Given the description of an element on the screen output the (x, y) to click on. 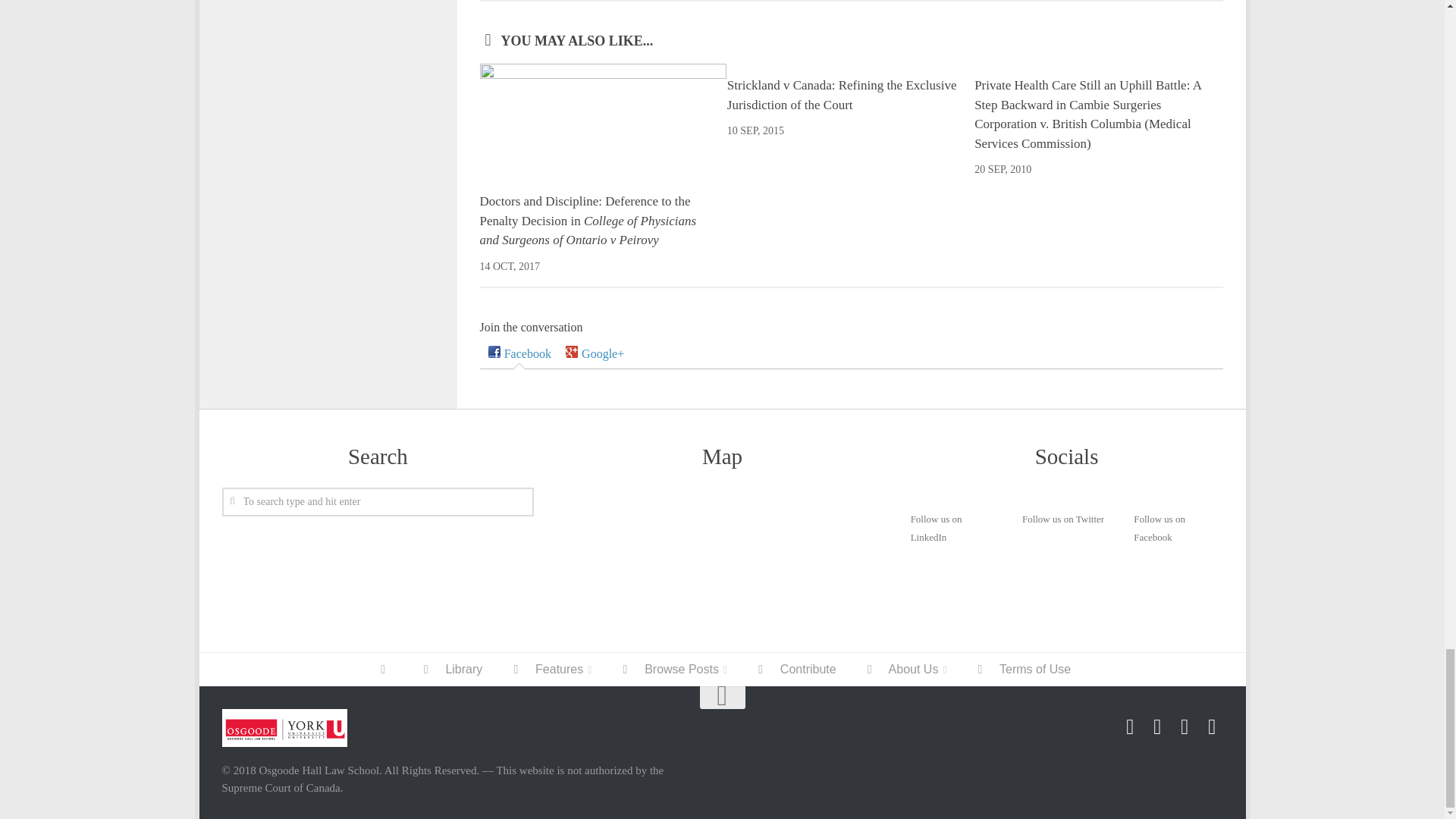
To search type and hit enter (377, 501)
To search type and hit enter (377, 501)
